Given the description of an element on the screen output the (x, y) to click on. 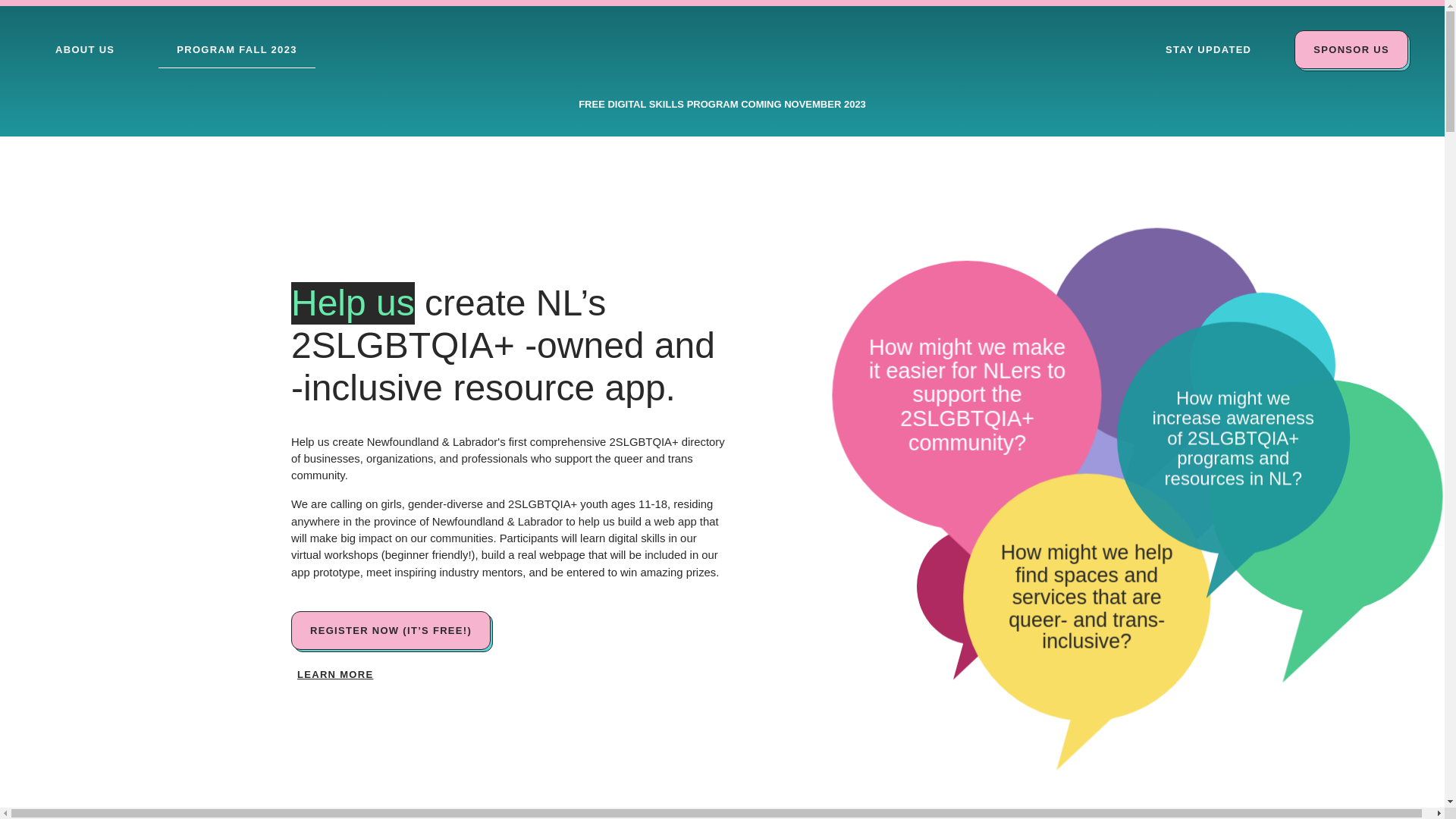
STAY UPDATED (1208, 49)
LEARN MORE (334, 674)
SPONSOR US (1350, 49)
ABOUT US (84, 49)
PROGRAM FALL 2023 (236, 49)
